Given the description of an element on the screen output the (x, y) to click on. 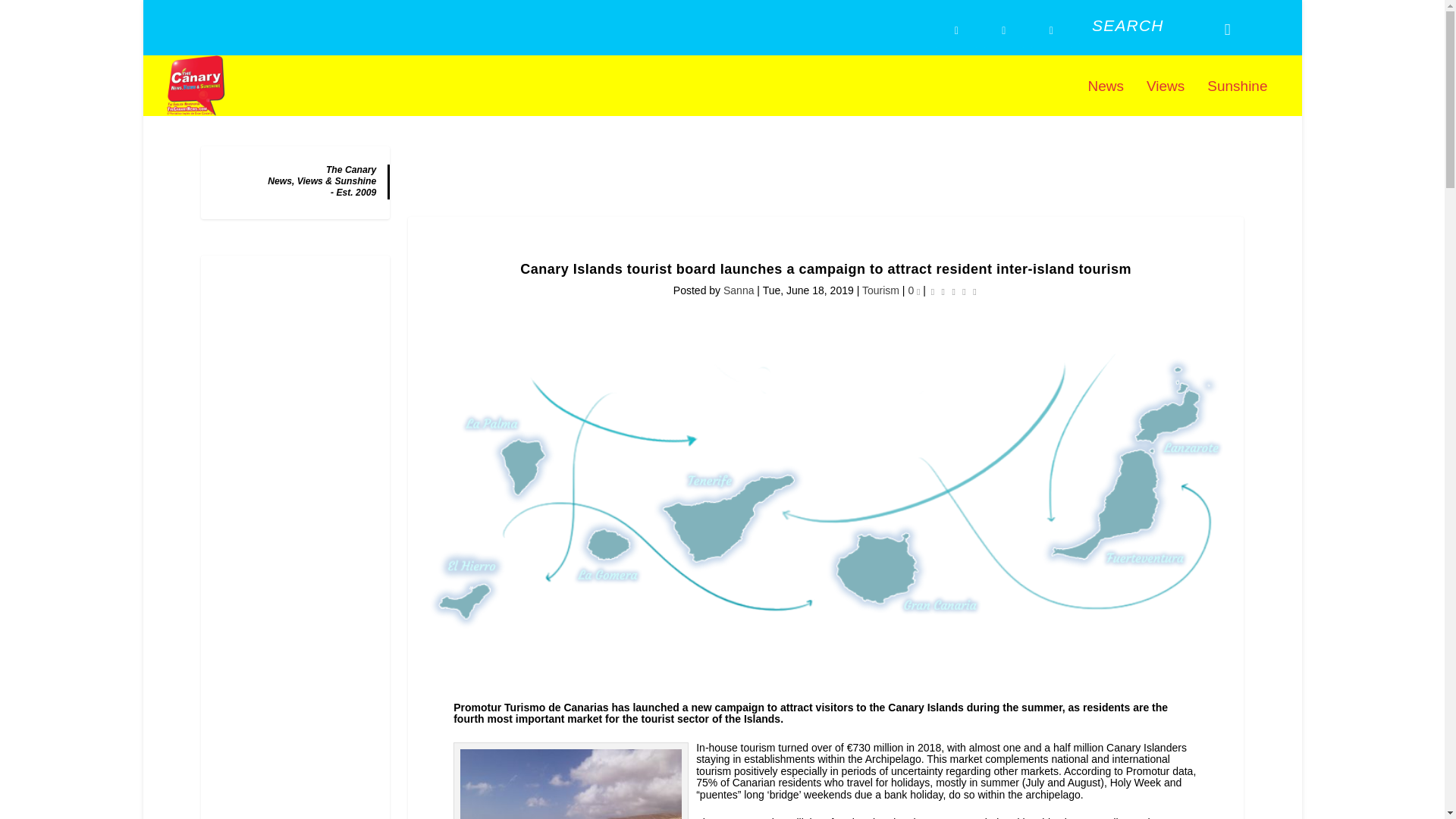
0 (913, 290)
Posts by Sanna (738, 290)
Tourism (880, 290)
Rating: 0.00 (953, 291)
News (1105, 98)
Sanna (738, 290)
